Given the description of an element on the screen output the (x, y) to click on. 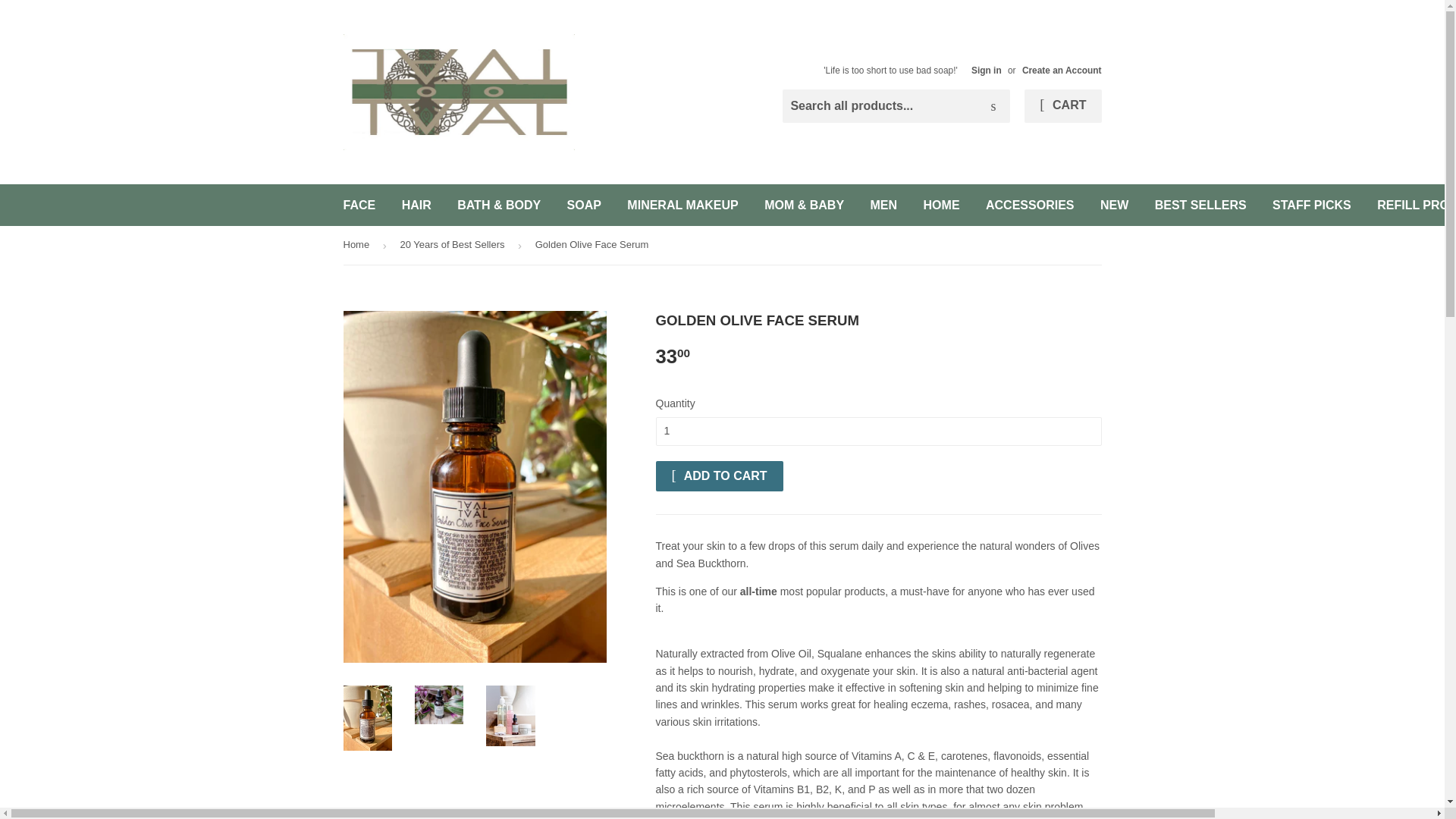
NEW (1114, 204)
ADD TO CART (719, 476)
Create an Account (1062, 70)
FACE (359, 204)
ACCESSORIES (1029, 204)
STAFF PICKS (1311, 204)
BEST SELLERS (1199, 204)
Sign in (986, 70)
REFILL PROGRAM (1410, 204)
CART (1062, 105)
